Given the description of an element on the screen output the (x, y) to click on. 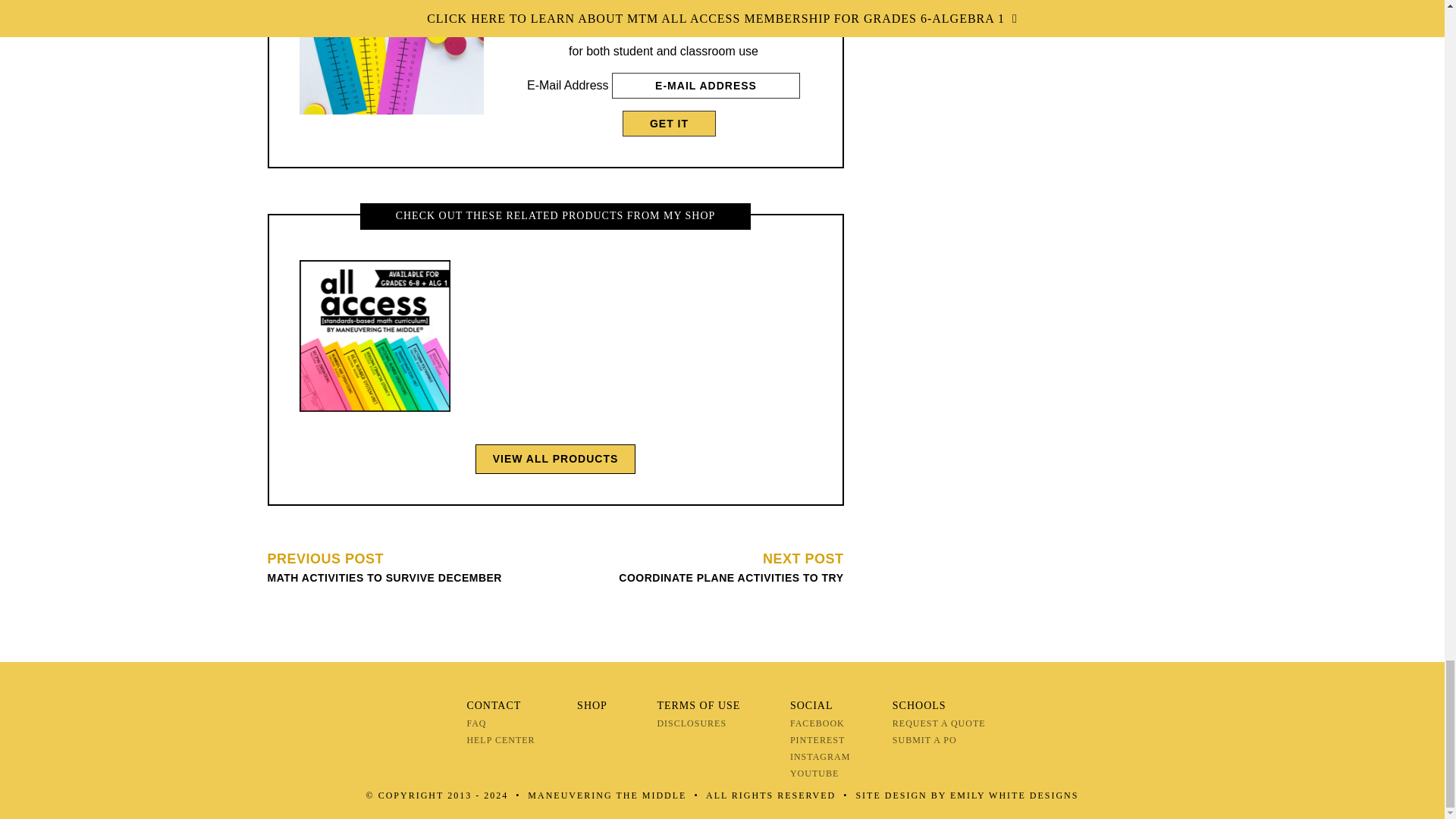
GET IT (713, 567)
Emily White Designs (669, 123)
VIEW ALL PRODUCTS (1014, 795)
GET IT (556, 459)
